Given the description of an element on the screen output the (x, y) to click on. 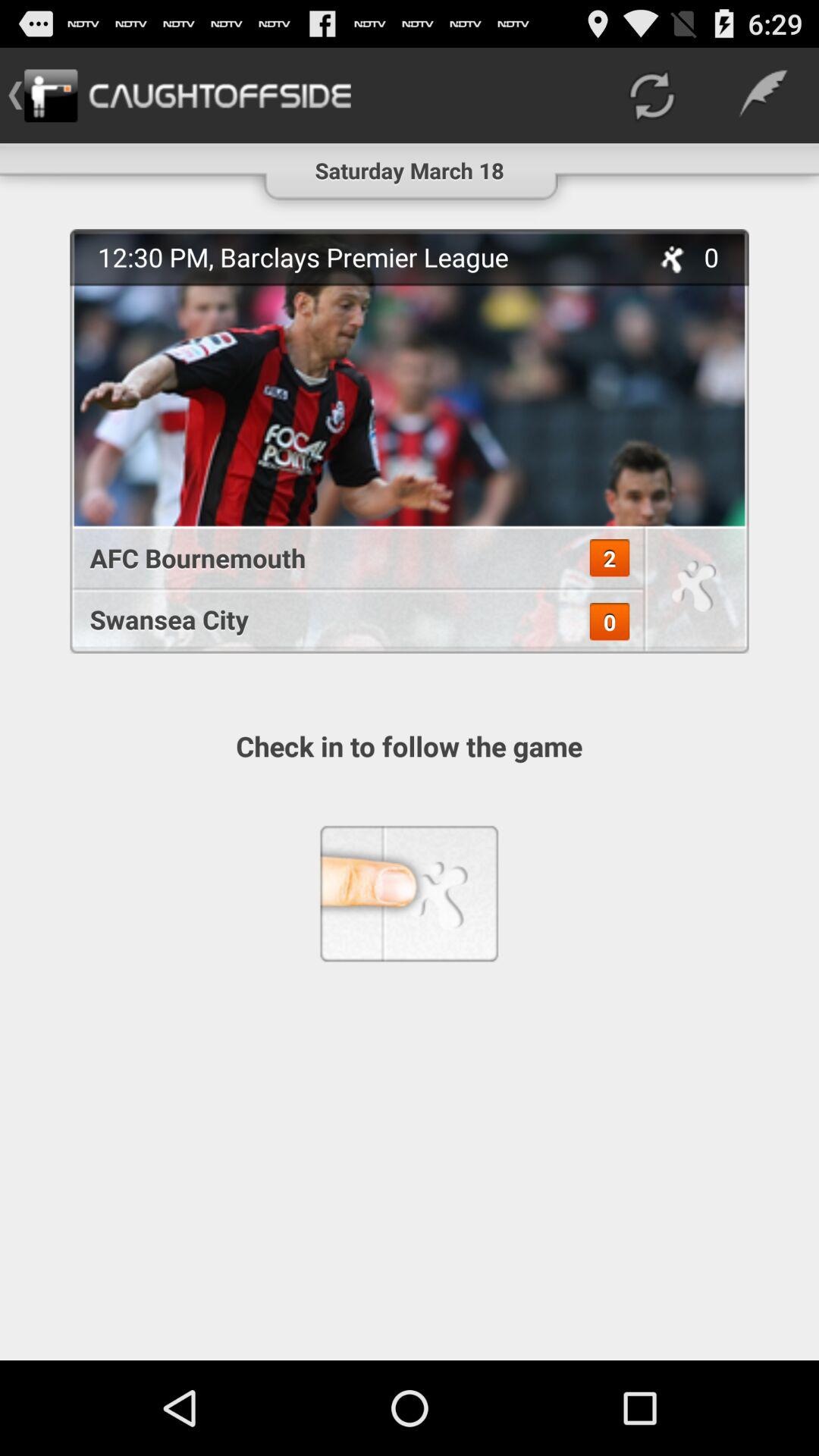
scroll to swansea city icon (348, 619)
